Given the description of an element on the screen output the (x, y) to click on. 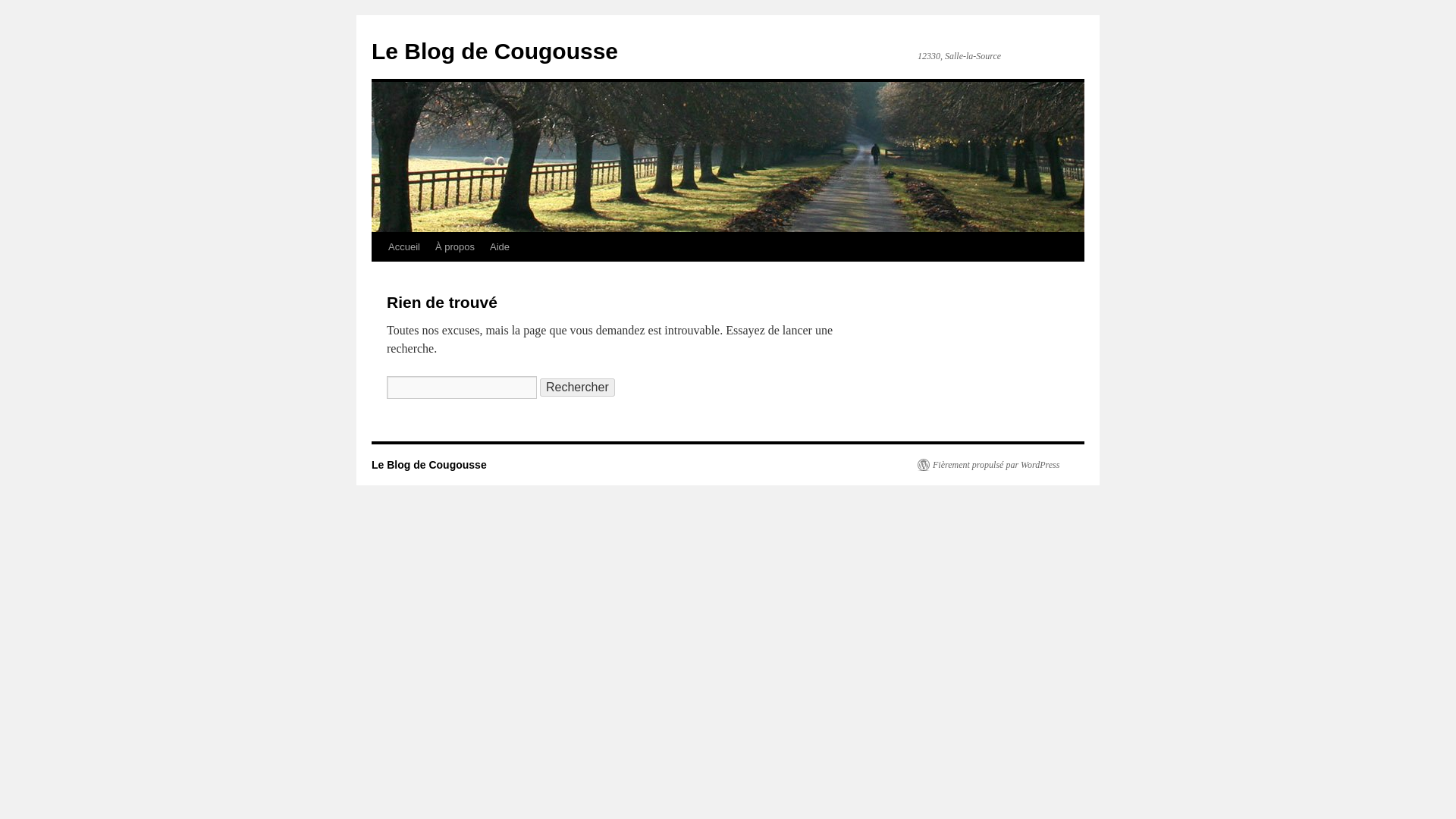
Le Blog de Cougousse (494, 50)
Aide (498, 246)
Le Blog de Cougousse (494, 50)
Rechercher (577, 387)
Accueil (404, 246)
Rechercher (577, 387)
